Given the description of an element on the screen output the (x, y) to click on. 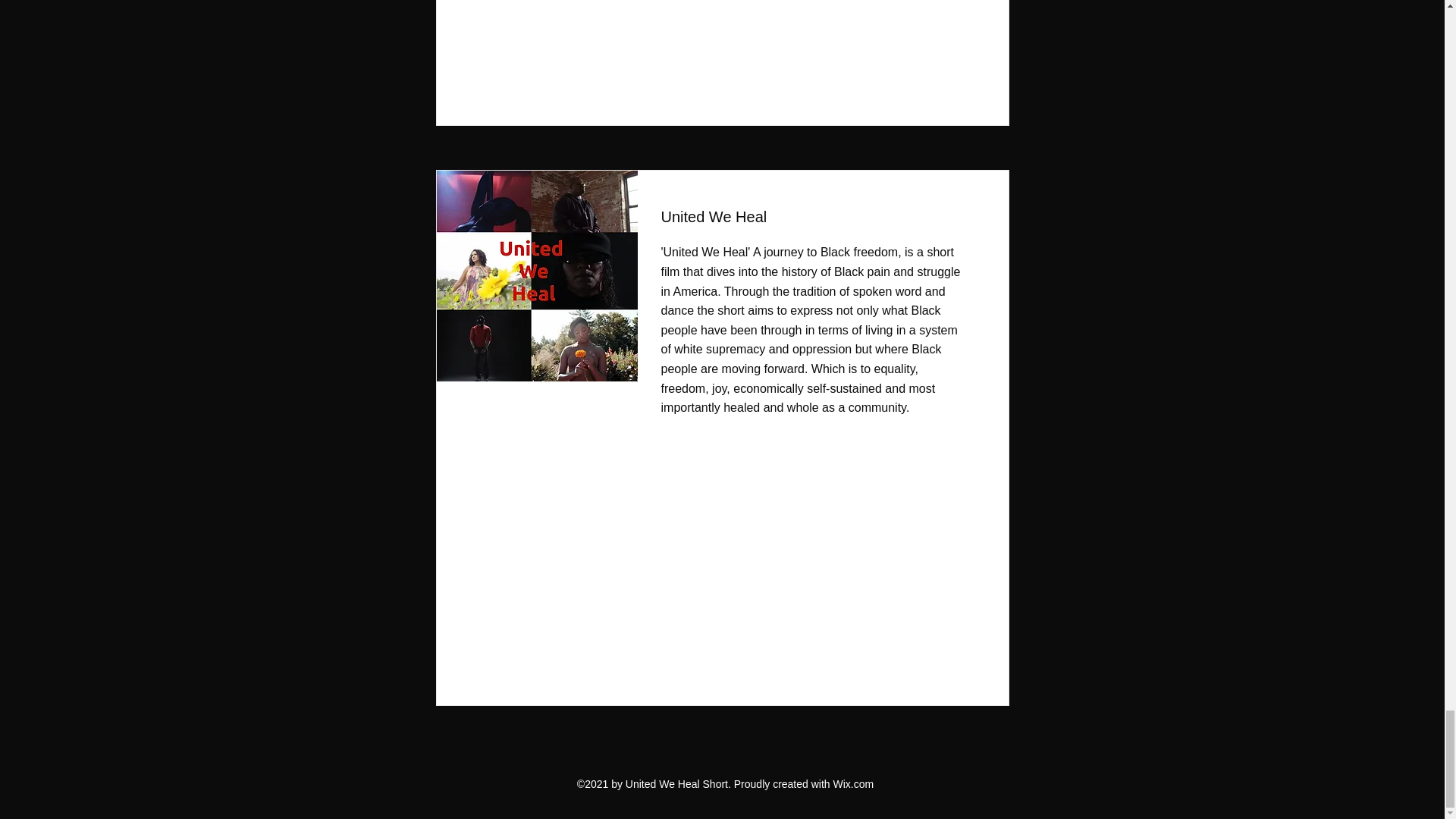
UWH.jpg (531, 275)
